Given the description of an element on the screen output the (x, y) to click on. 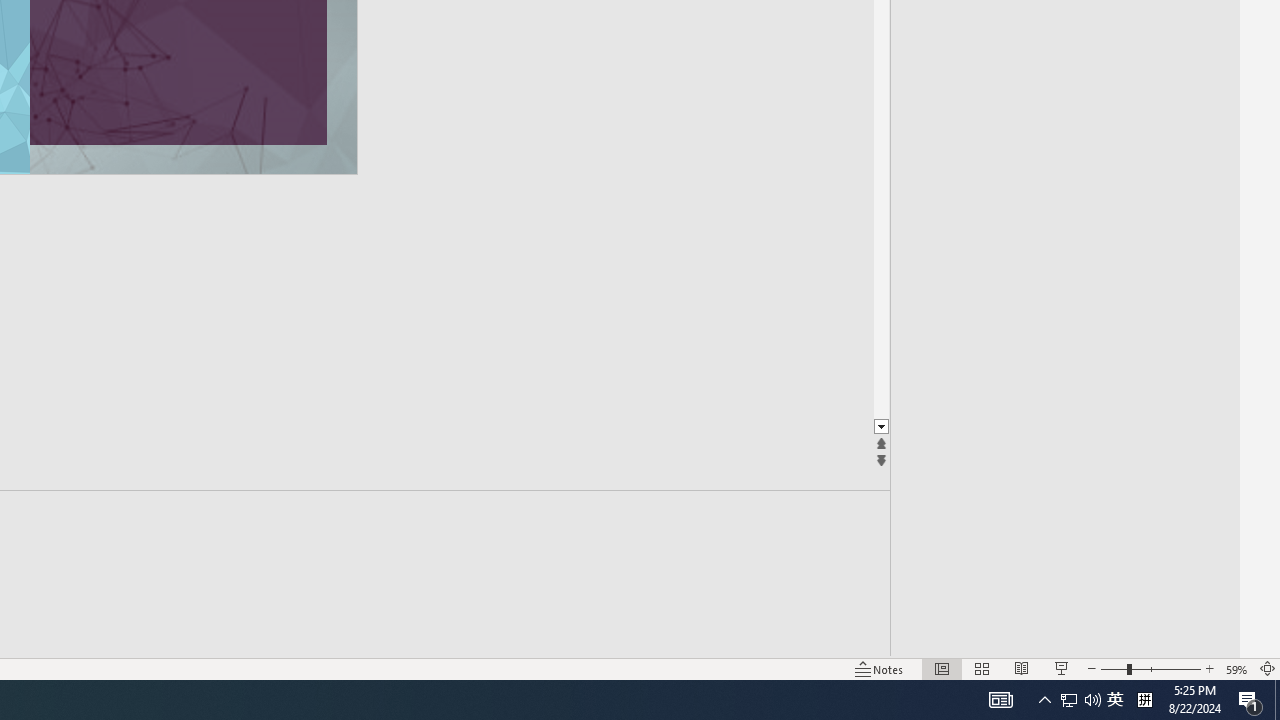
Zoom 59% (1236, 668)
